Given the description of an element on the screen output the (x, y) to click on. 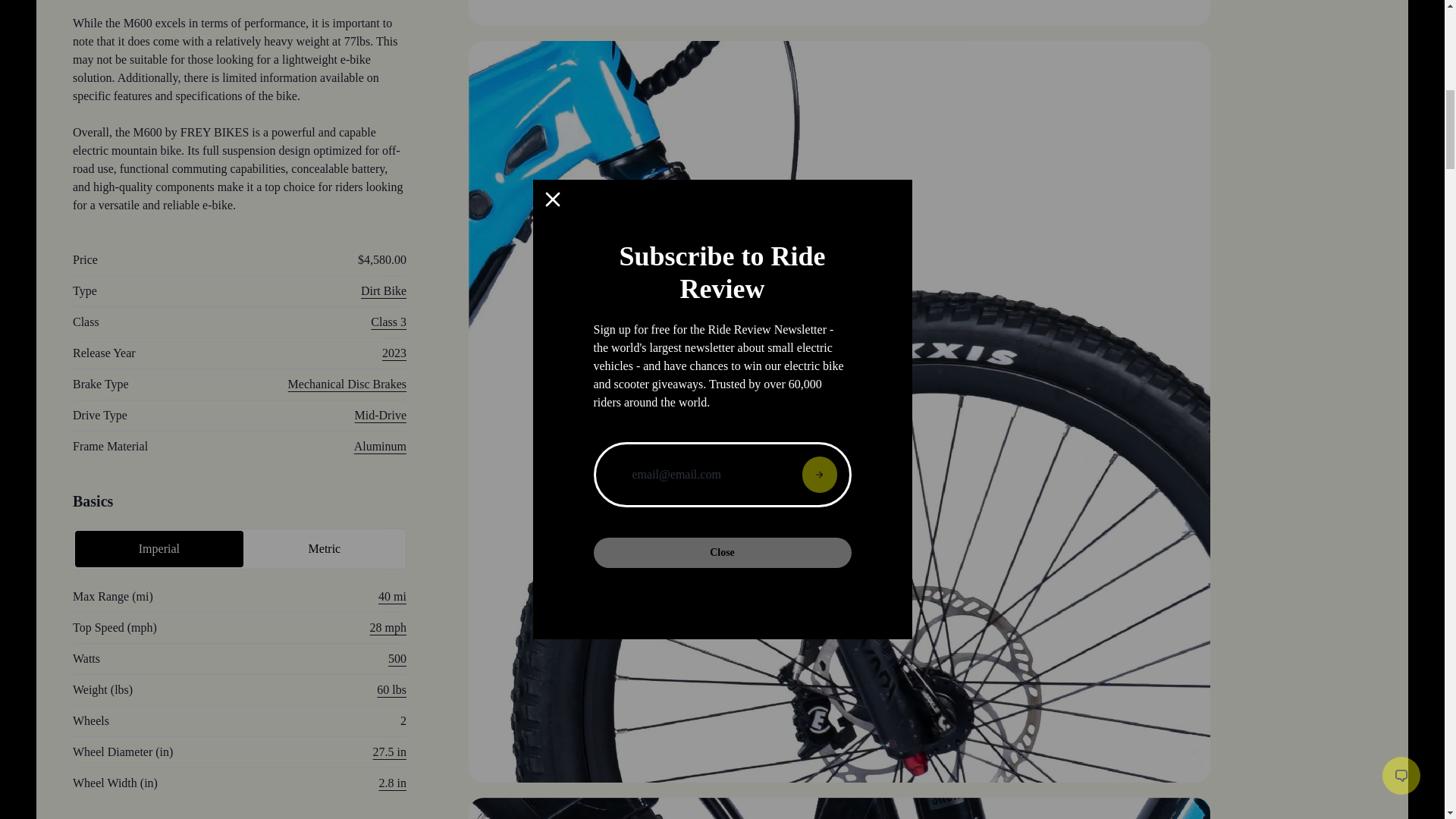
2.8 in (392, 782)
Dirt Bike (383, 290)
500 (397, 658)
28 mph (387, 626)
40 mi (392, 595)
Mechanical Disc Brakes (347, 383)
2023 (393, 352)
Mid-Drive (380, 414)
Class 3 (388, 321)
Aluminum (379, 445)
